Given the description of an element on the screen output the (x, y) to click on. 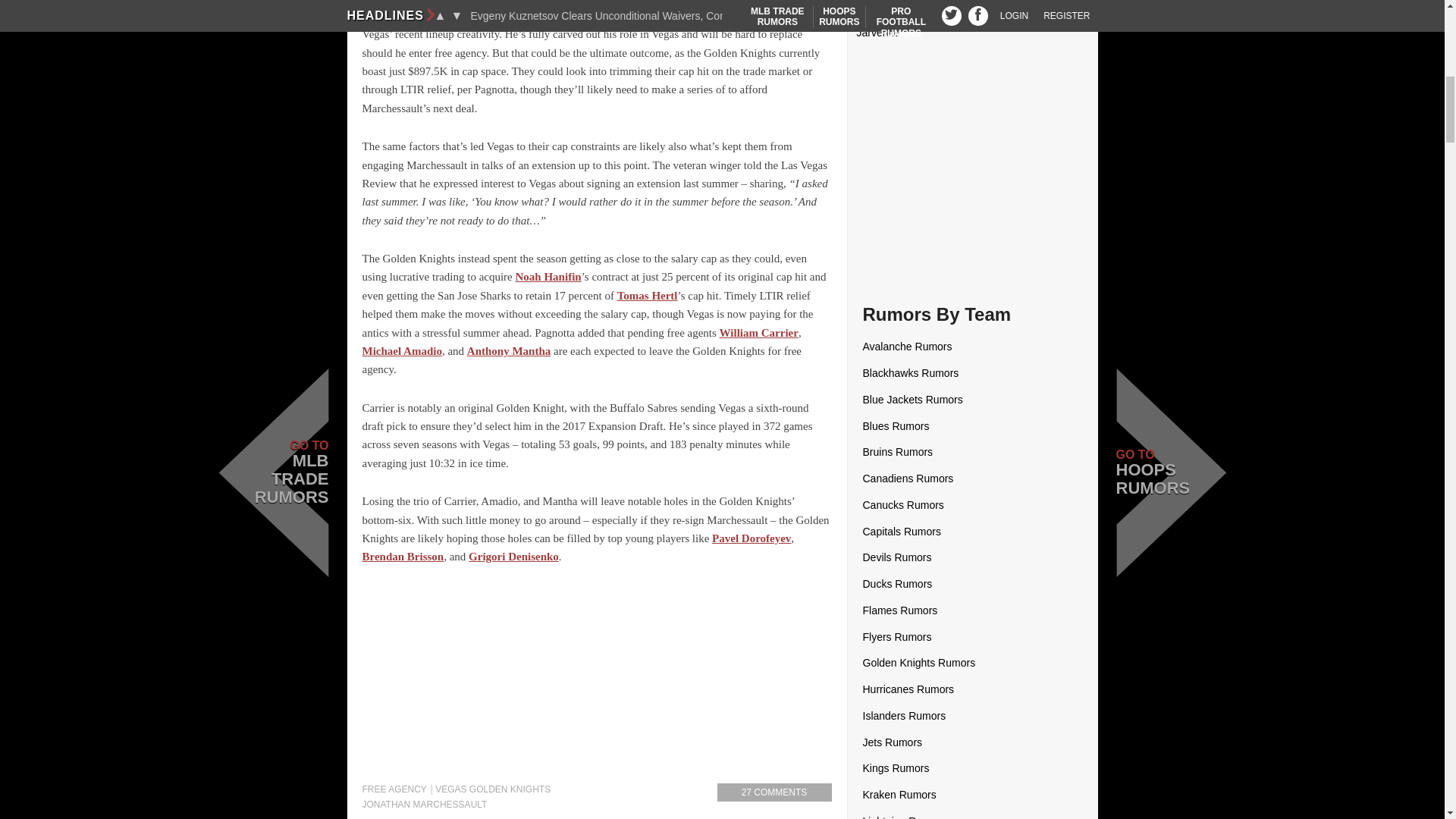
3rd party ad content (597, 680)
